Given the description of an element on the screen output the (x, y) to click on. 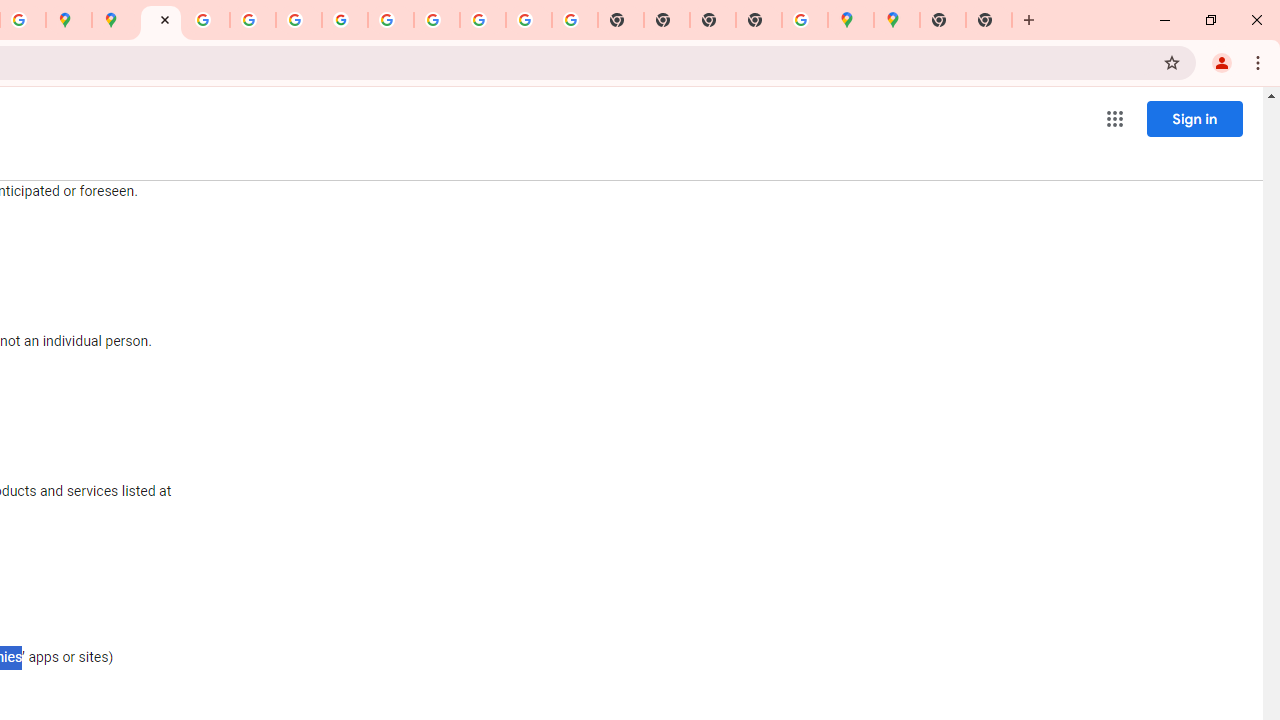
Privacy Help Center - Policies Help (207, 20)
Use Google Maps in Space - Google Maps Help (805, 20)
New Tab (943, 20)
Google Maps (897, 20)
New Tab (989, 20)
Privacy Help Center - Policies Help (253, 20)
Browse Chrome as a guest - Computer - Google Chrome Help (436, 20)
